Given the description of an element on the screen output the (x, y) to click on. 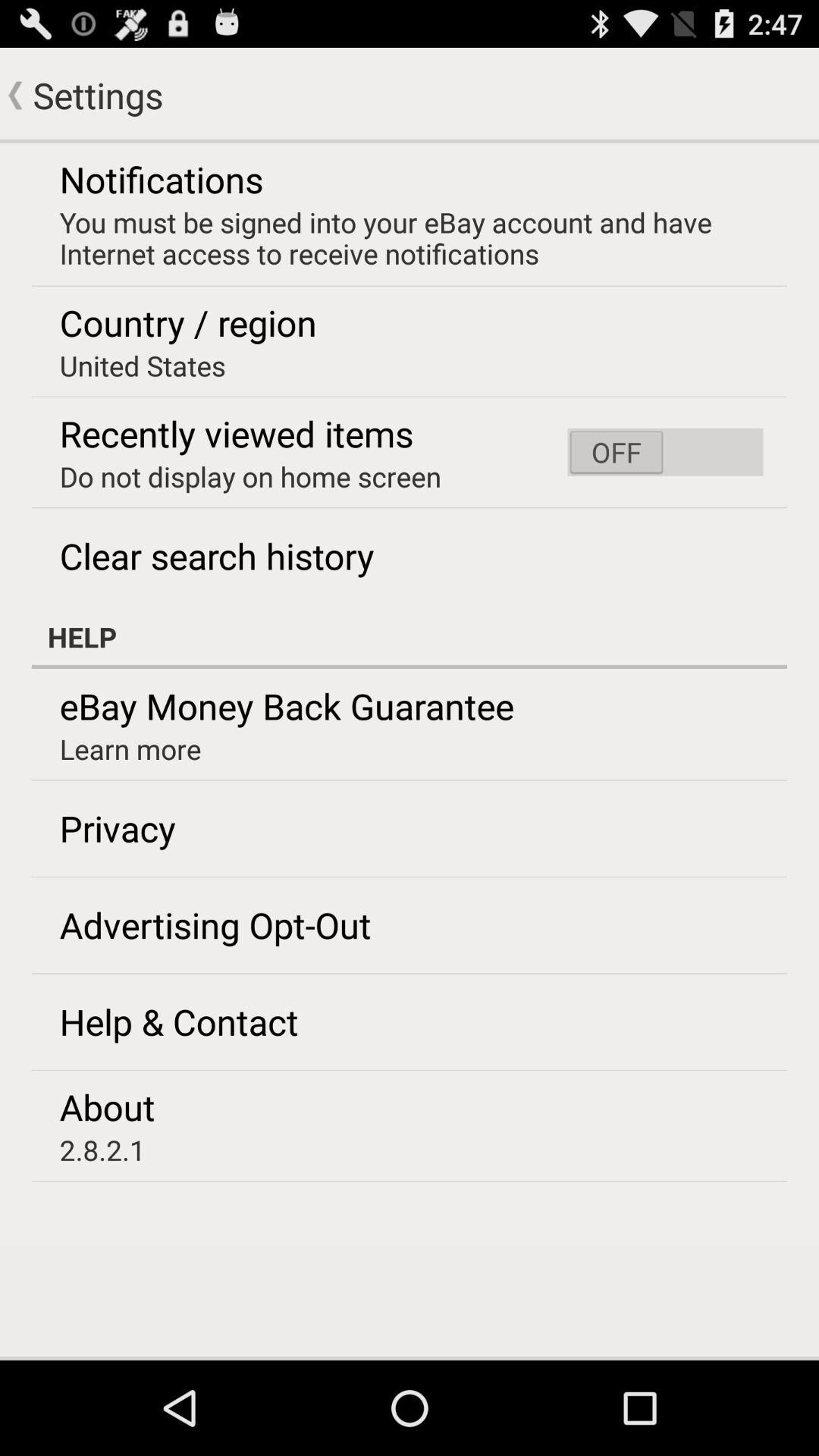
turn on app below do not display app (216, 555)
